Given the description of an element on the screen output the (x, y) to click on. 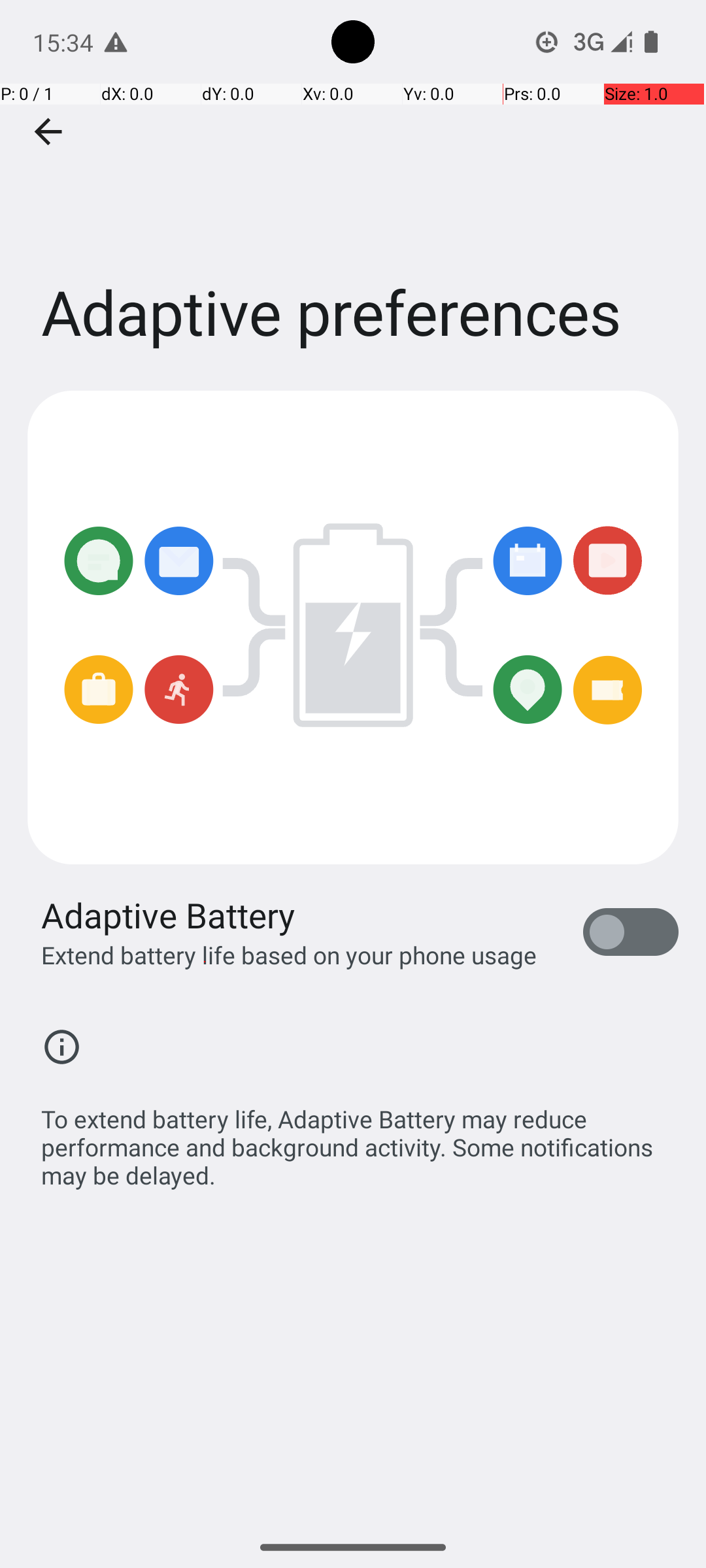
Adaptive preferences Element type: android.widget.FrameLayout (353, 195)
Adaptive Battery Element type: android.widget.TextView (168, 914)
Extend battery life based on your phone usage Element type: android.widget.TextView (288, 954)
To extend battery life, Adaptive Battery may reduce performance and background activity. Some notifications may be delayed. Element type: android.widget.TextView (359, 1139)
